Given the description of an element on the screen output the (x, y) to click on. 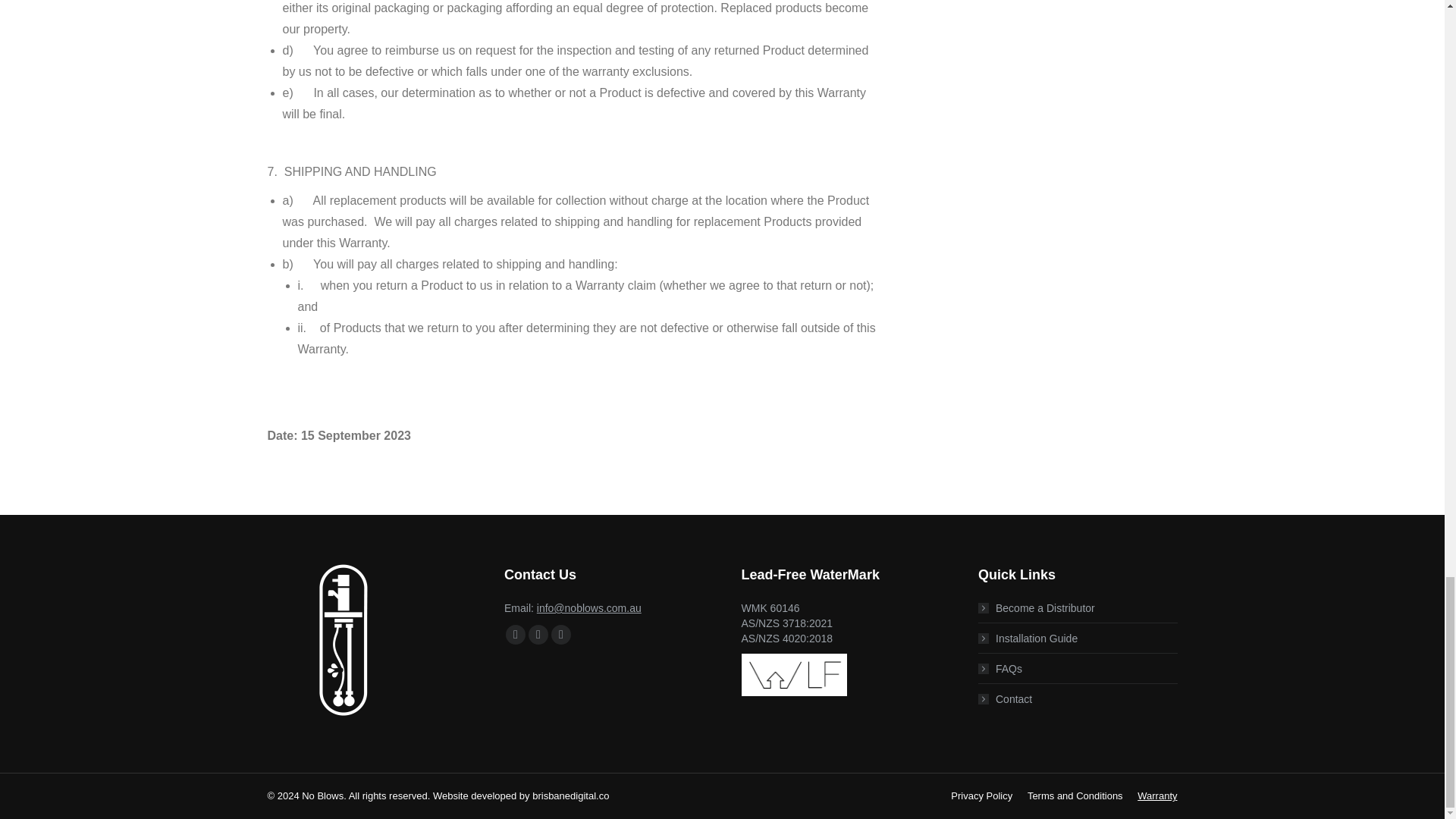
FAQs (1000, 668)
Instagram page opens in new window (560, 634)
Become a Distributor (1036, 607)
Facebook page opens in new window (515, 634)
YouTube page opens in new window (538, 634)
Facebook page opens in new window (515, 634)
YouTube page opens in new window (538, 634)
Instagram page opens in new window (560, 634)
Installation Guide (1027, 638)
